Given the description of an element on the screen output the (x, y) to click on. 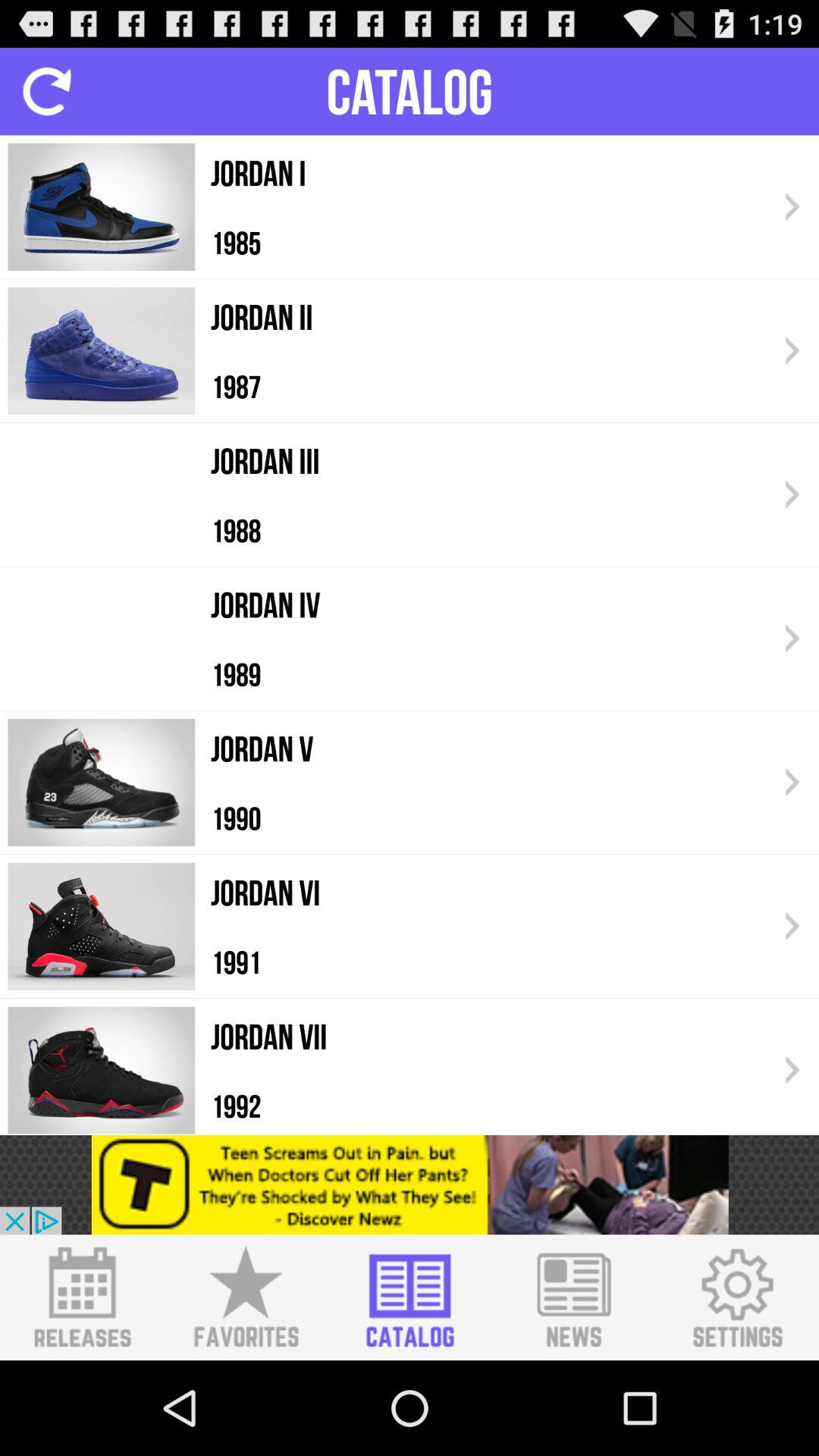
go to releases (81, 1297)
